Given the description of an element on the screen output the (x, y) to click on. 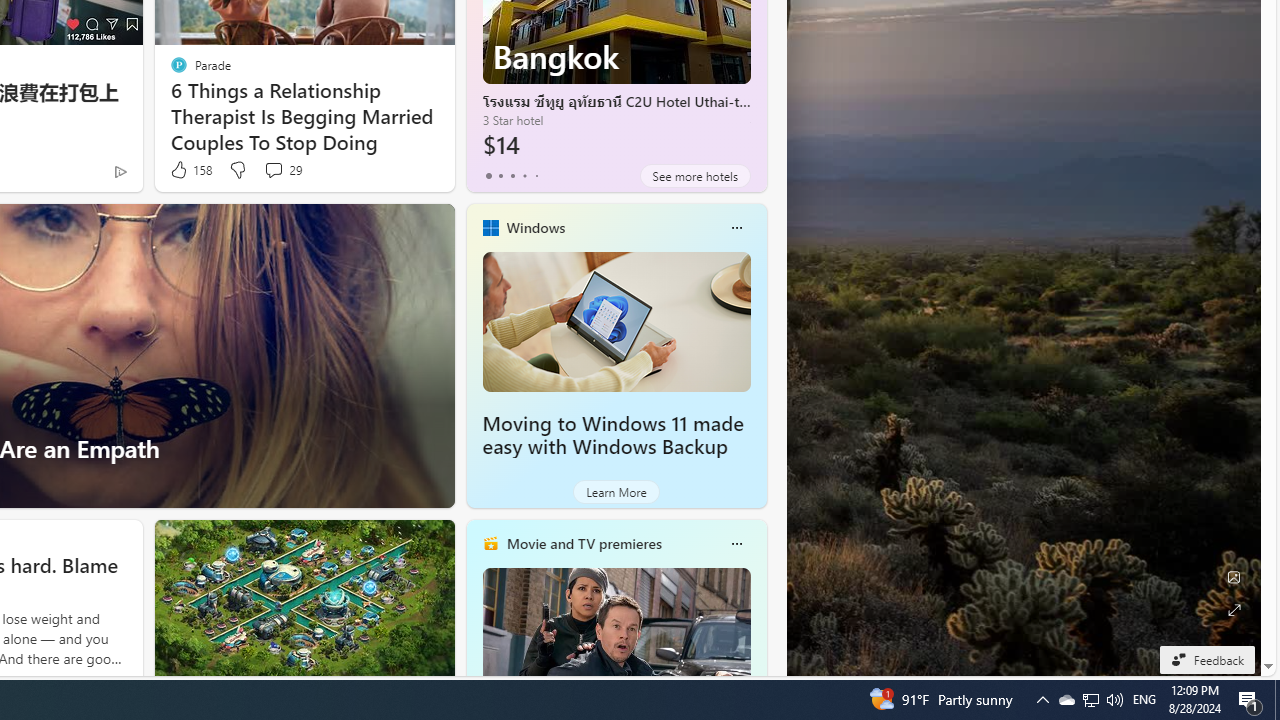
See more hotels (694, 175)
Learn More (616, 491)
Expand background (1233, 610)
tab-0 (488, 175)
Class: icon-img (736, 543)
View comments 29 Comment (281, 170)
tab-2 (511, 175)
Edit Background (1233, 577)
Moving to Windows 11 made easy with Windows Backup (616, 321)
View comments 29 Comment (273, 169)
tab-1 (500, 175)
tab-4 (535, 175)
Windows (535, 227)
